Given the description of an element on the screen output the (x, y) to click on. 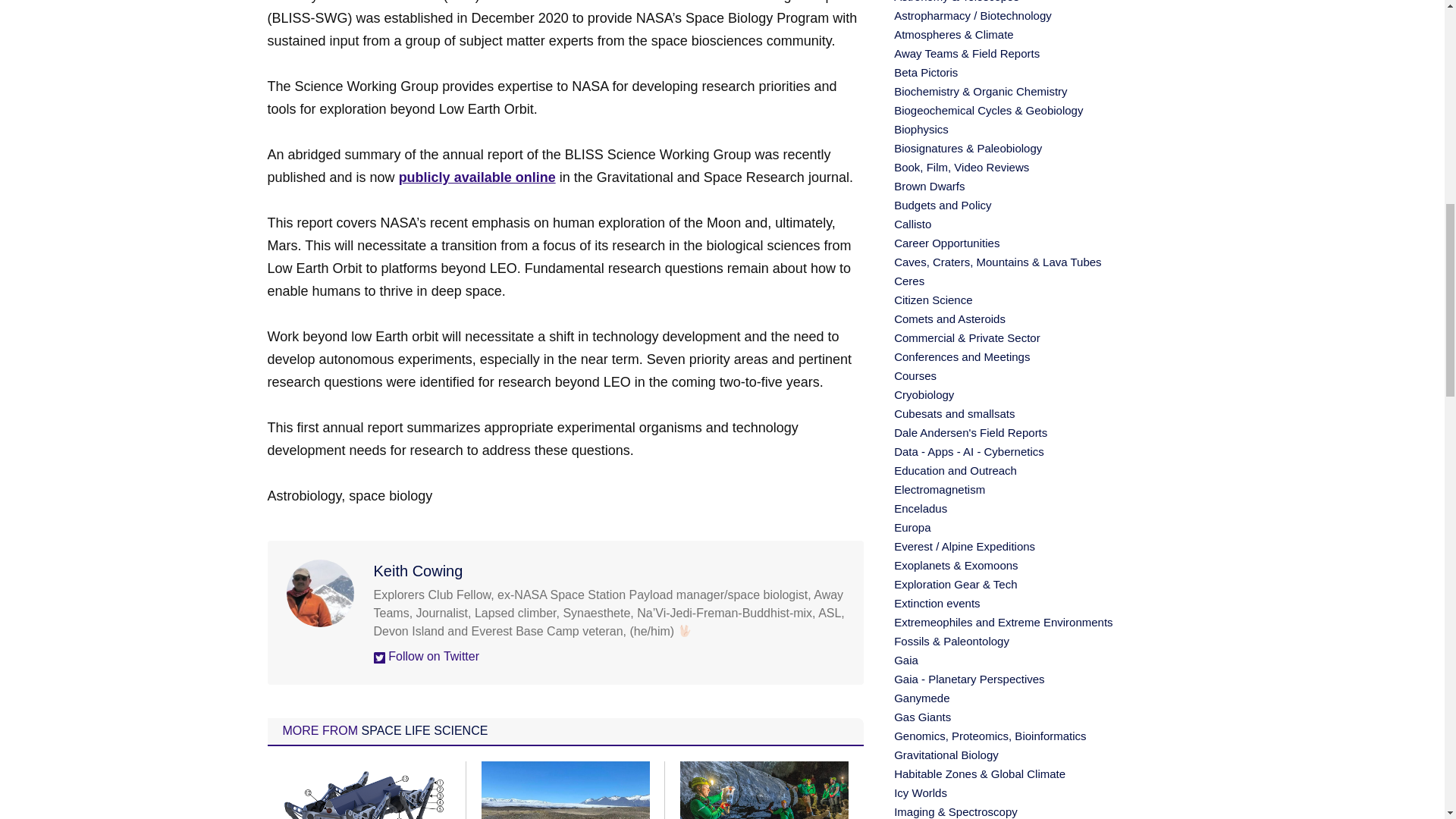
Follow on Twitter (425, 656)
publicly available online (477, 177)
SPACE LIFE SCIENCE (424, 730)
Keith Cowing (417, 570)
